Given the description of an element on the screen output the (x, y) to click on. 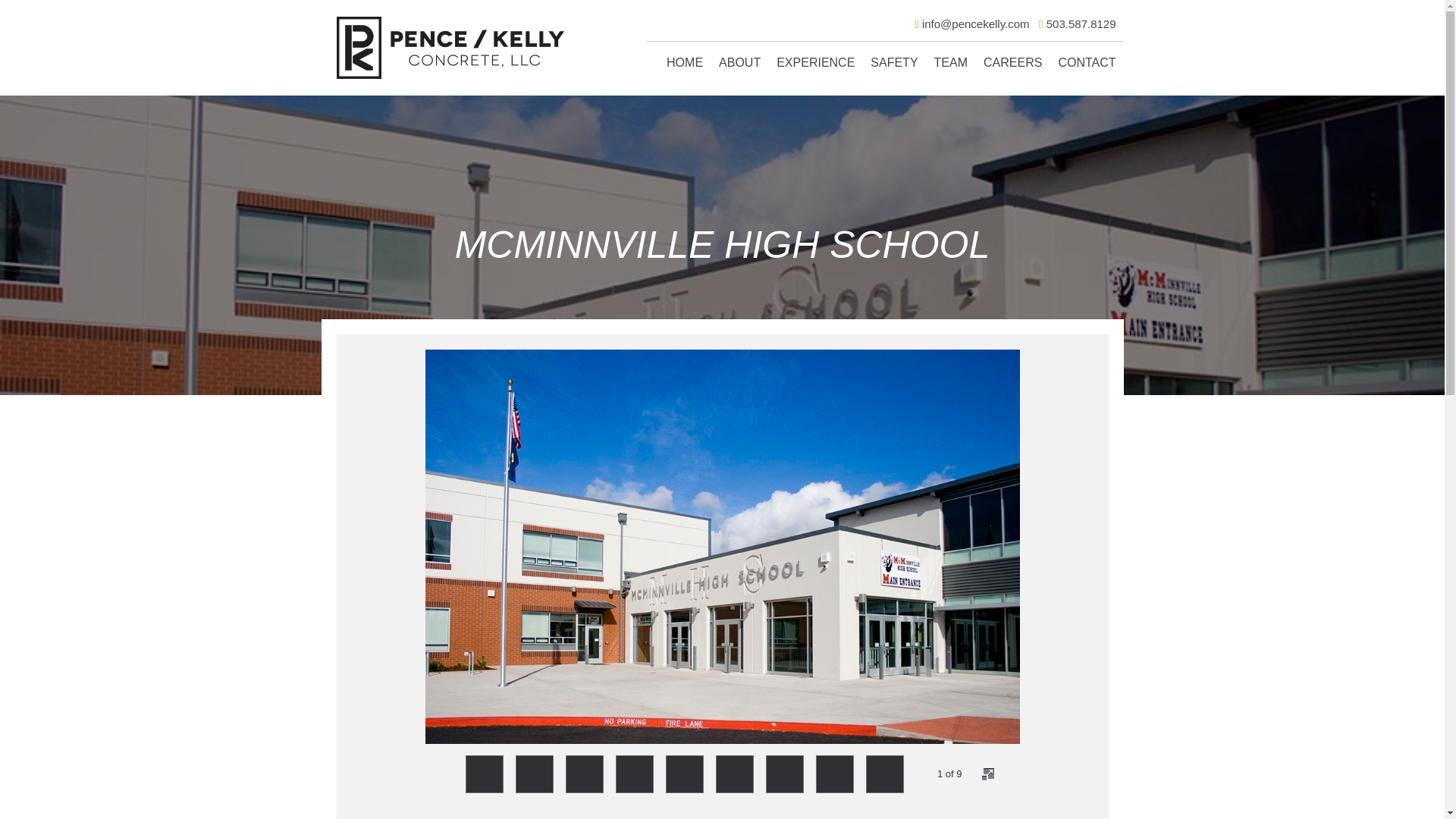
HOME (684, 62)
pence-kelly-logo (450, 47)
CONTACT (1085, 62)
EXPERIENCE (814, 62)
CAREERS (1012, 62)
503.587.8129 (1081, 23)
TEAM (950, 62)
SAFETY (893, 62)
ABOUT (739, 62)
